Given the description of an element on the screen output the (x, y) to click on. 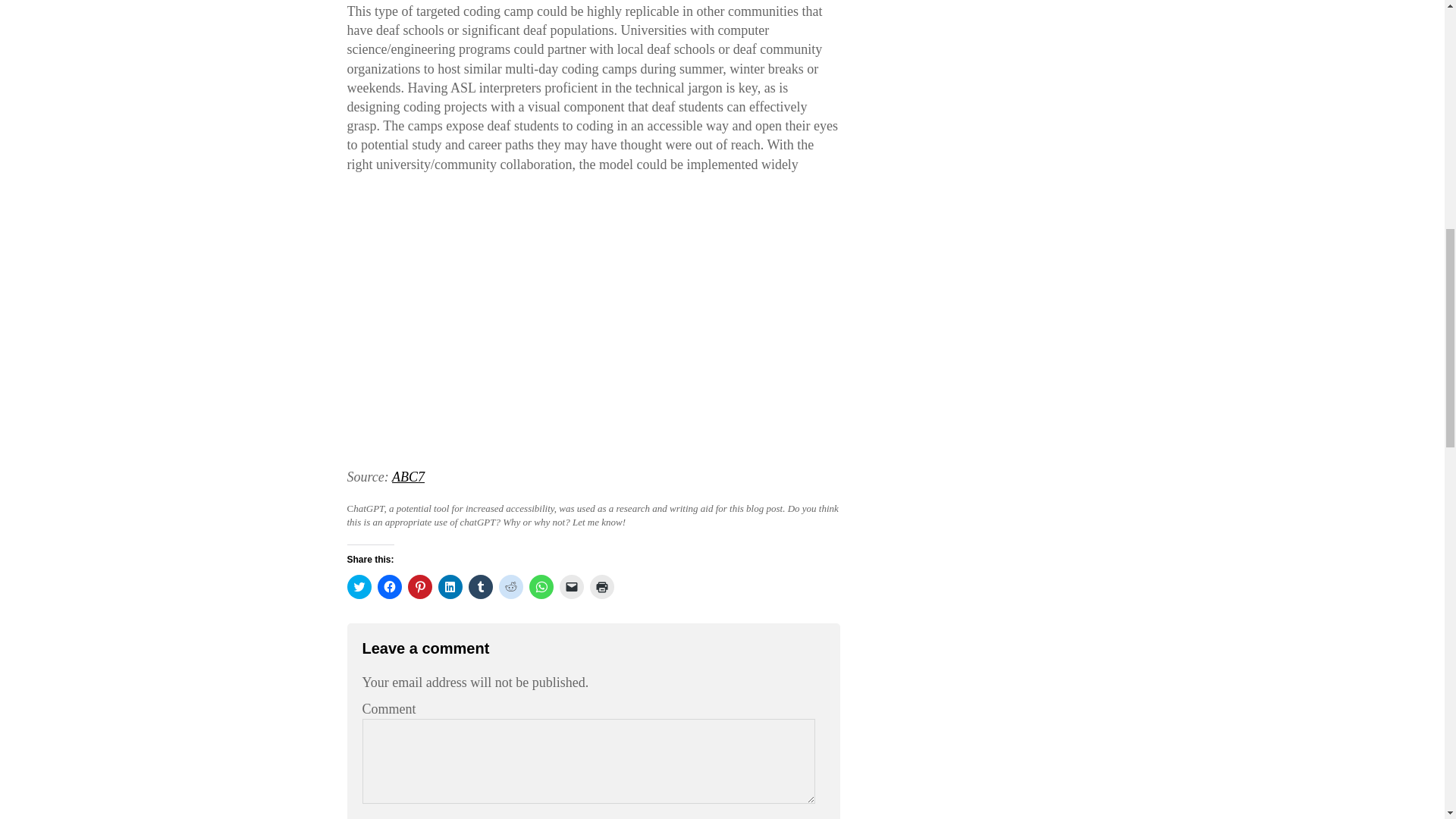
Click to share on Twitter (359, 586)
Click to share on WhatsApp (541, 586)
Click to email a link to a friend (571, 586)
ABC7 (408, 476)
Click to share on Facebook (389, 586)
Click to share on Tumblr (480, 586)
Click to print (601, 586)
Click to share on LinkedIn (450, 586)
Click to share on Reddit (510, 586)
Click to share on Pinterest (419, 586)
